Given the description of an element on the screen output the (x, y) to click on. 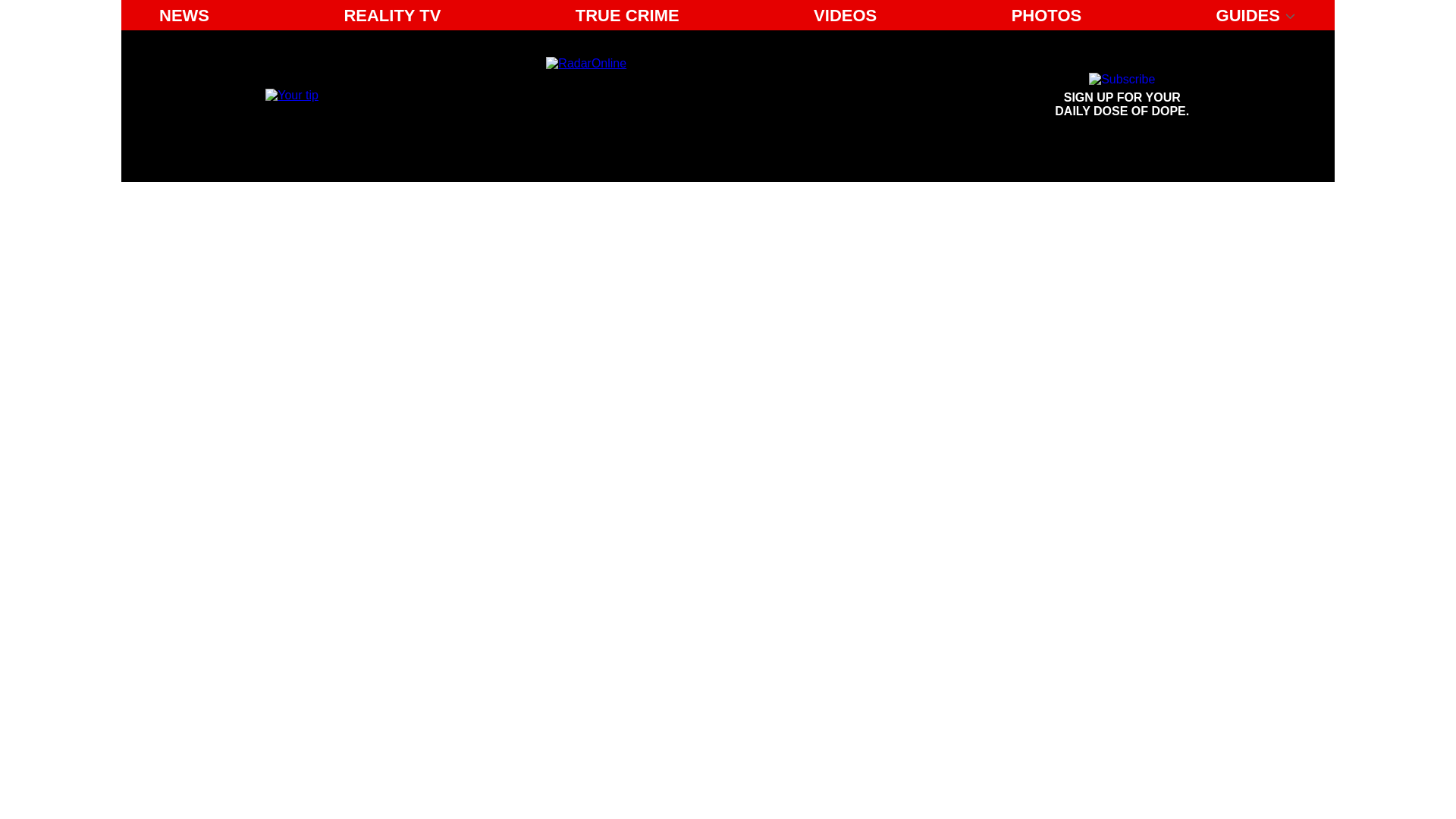
Email us your tip (291, 94)
VIDEOS (844, 15)
TRUE CRIME (627, 15)
REALITY TV (392, 15)
Sign up for your daily dose of dope. (1122, 94)
PHOTOS (1046, 15)
Radar Online (685, 95)
NEWS (1122, 94)
